Given the description of an element on the screen output the (x, y) to click on. 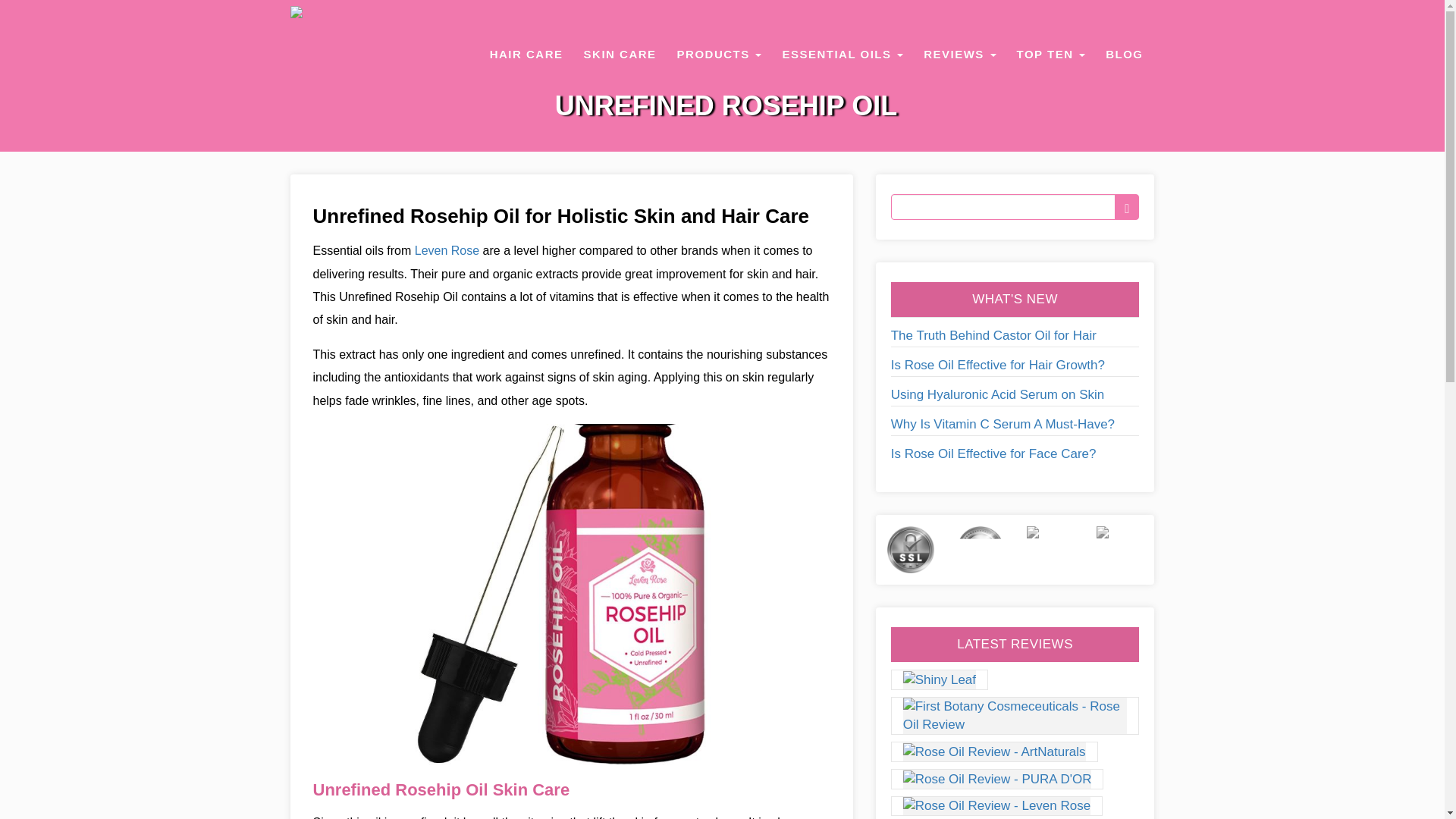
BLOG (1123, 54)
Skin Care (620, 54)
Essential Oils (842, 54)
SKIN CARE (620, 54)
TOP TEN (1050, 54)
HAIR CARE (526, 54)
Reviews (959, 54)
Products (719, 54)
Hair Care (526, 54)
ESSENTIAL OILS (842, 54)
PRODUCTS (719, 54)
REVIEWS (959, 54)
